Given the description of an element on the screen output the (x, y) to click on. 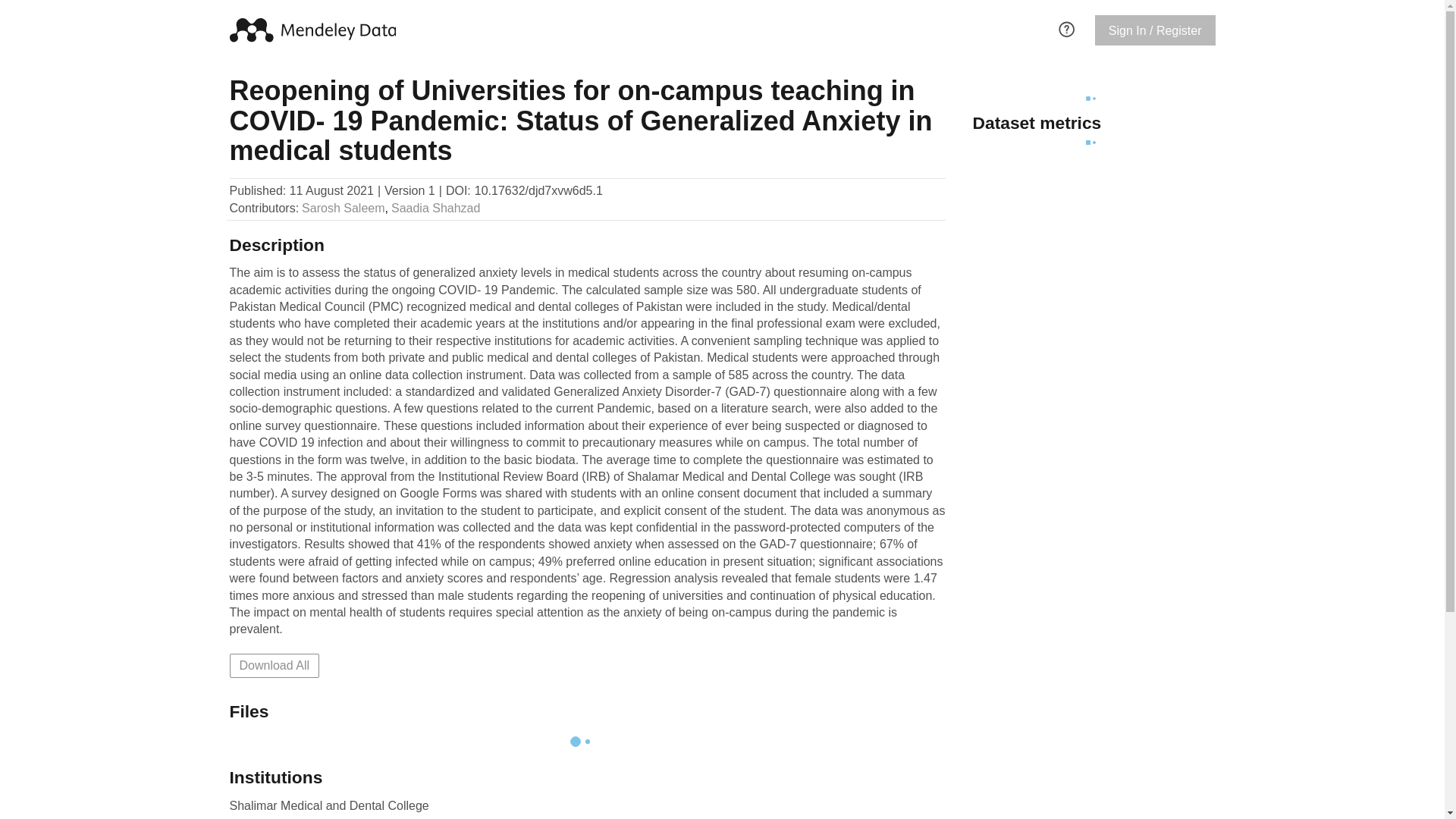
Saadia Shahzad (435, 208)
FAQ (1066, 27)
Download All (273, 665)
Sarosh Saleem (342, 208)
